Given the description of an element on the screen output the (x, y) to click on. 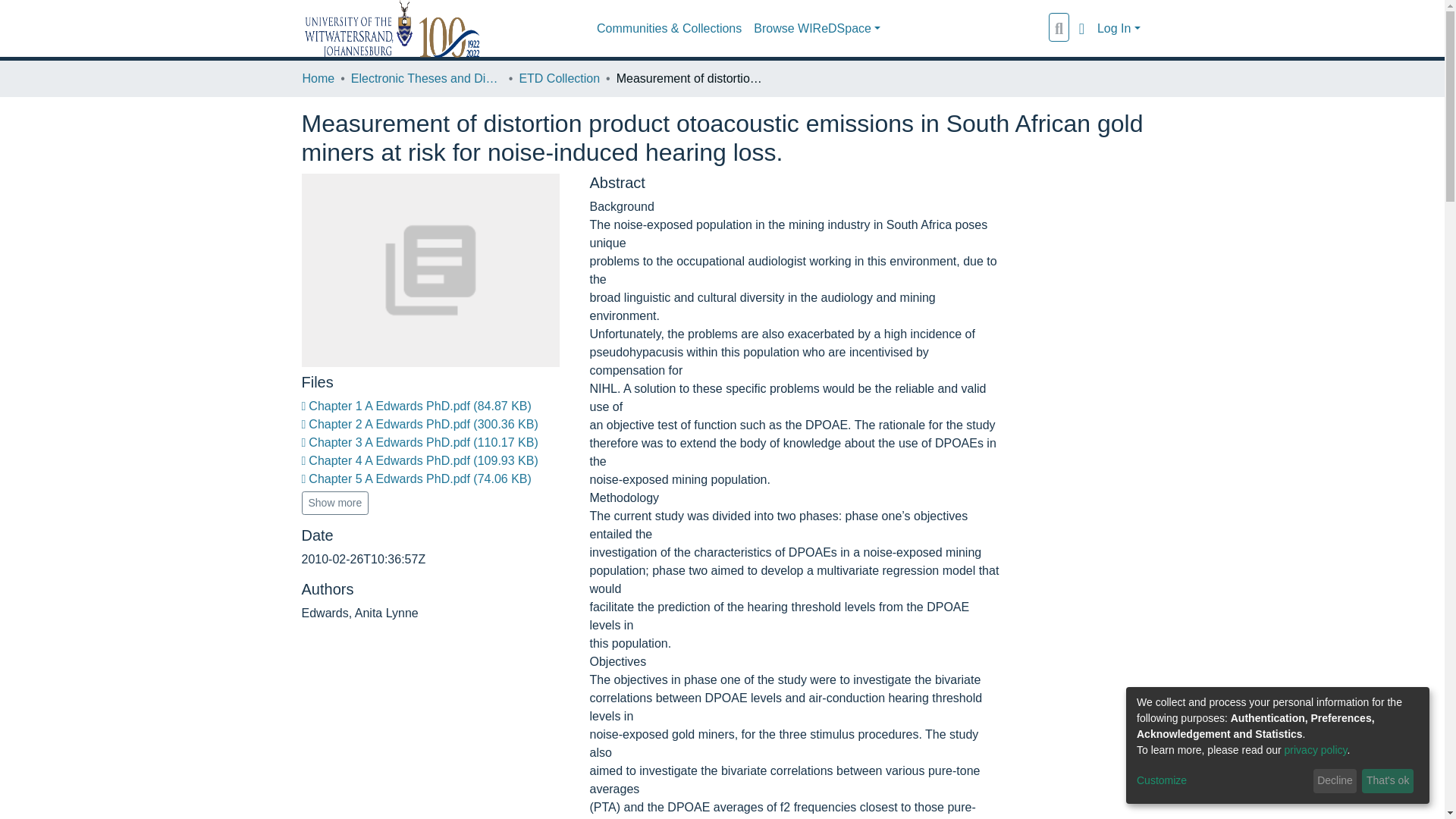
ETD Collection (558, 78)
Customize (1222, 780)
Decline (1334, 781)
Language switch (1081, 28)
Browse WIReDSpace (817, 28)
That's ok (1387, 781)
Show more (335, 503)
Home (317, 78)
Log In (1118, 28)
Search (1058, 28)
privacy policy (1316, 749)
